Given the description of an element on the screen output the (x, y) to click on. 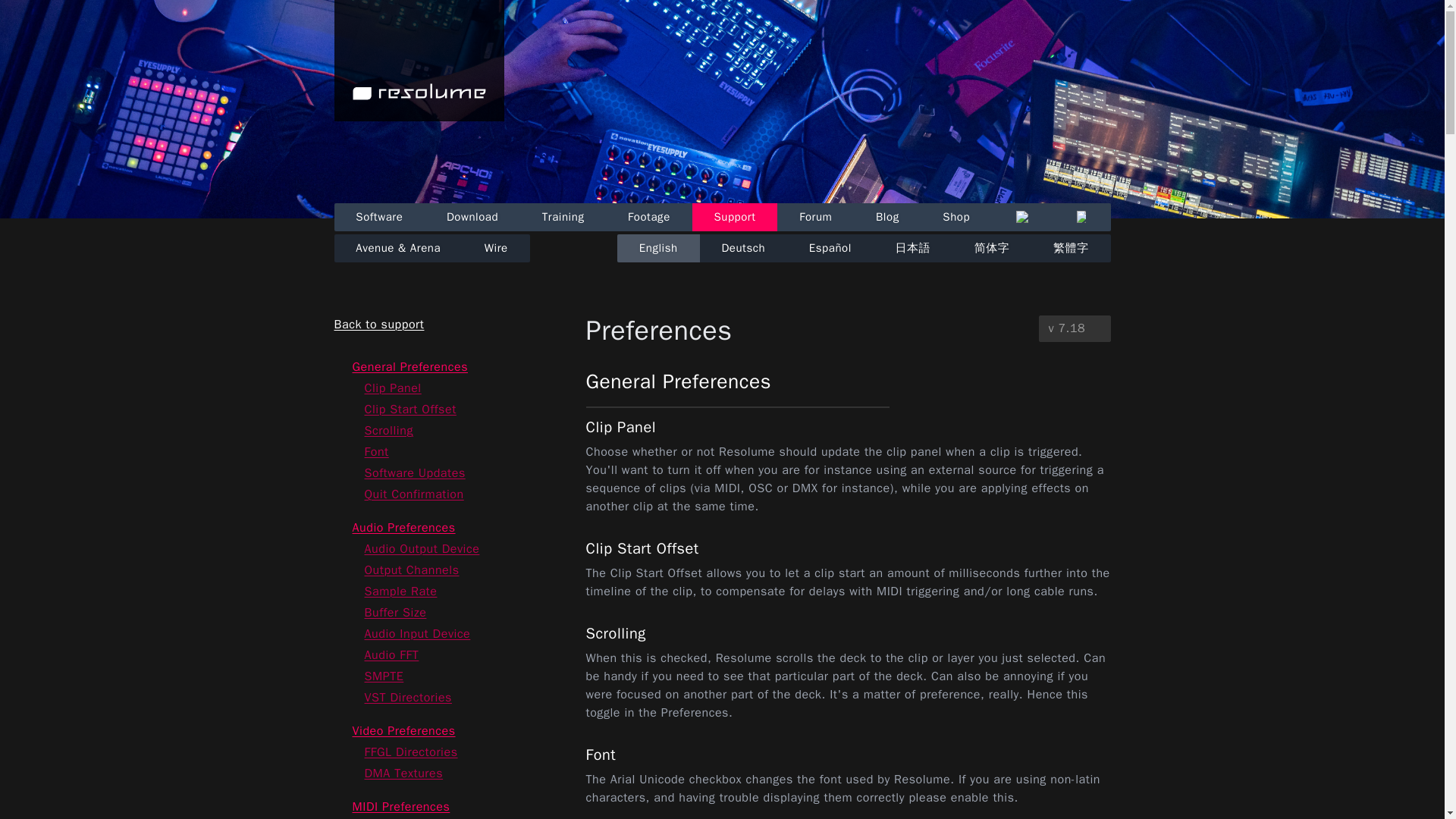
Audio FFT (391, 654)
Cart (1021, 216)
DMA Textures (403, 773)
Scrolling (388, 430)
FFGL Directories (410, 752)
Footage (648, 216)
Blog (886, 216)
Deutsch (743, 248)
Training (562, 216)
Buffer Size (395, 612)
